Given the description of an element on the screen output the (x, y) to click on. 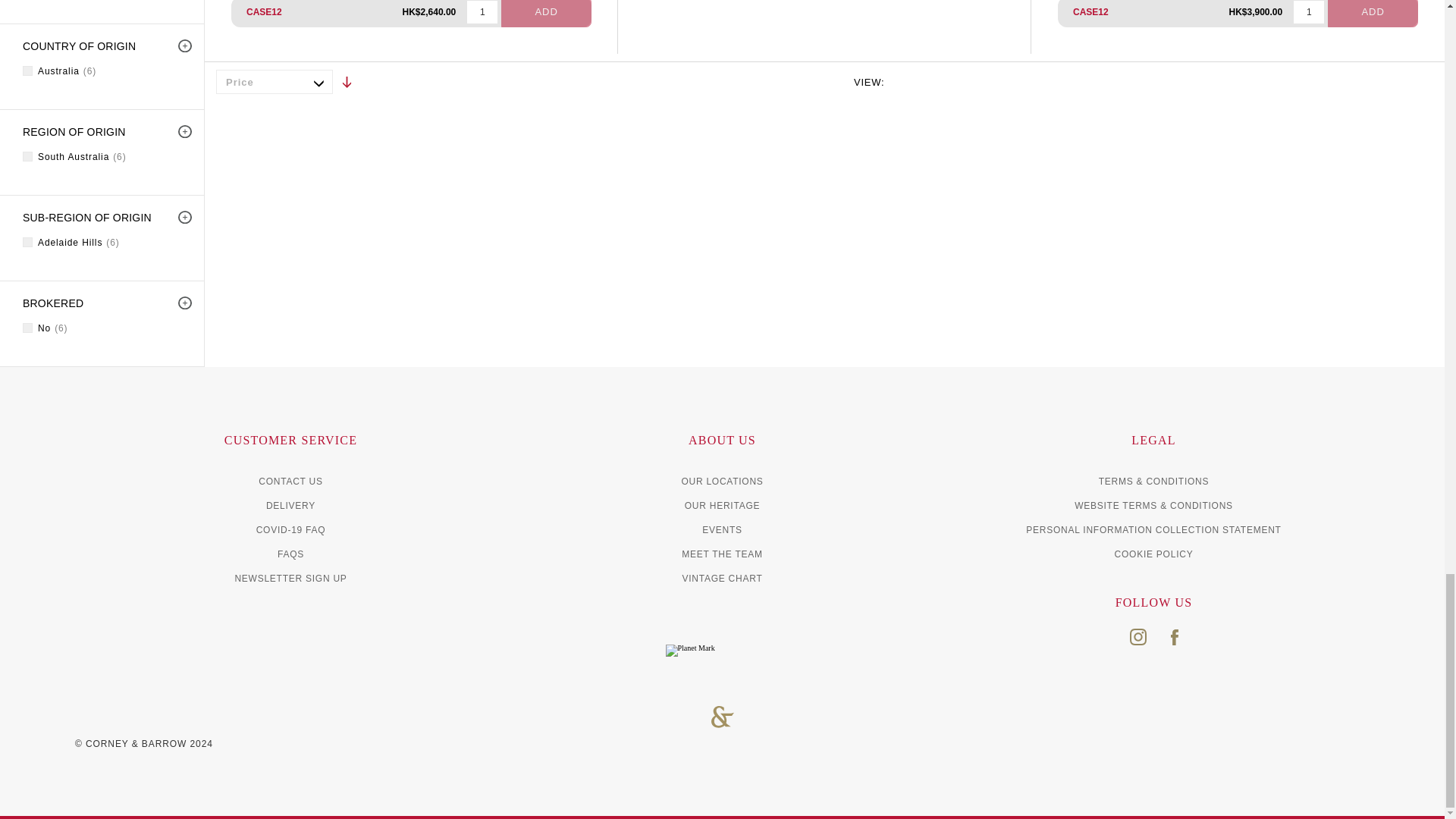
1 (482, 11)
1 (1308, 11)
Quantity (482, 11)
Add (545, 13)
